Given the description of an element on the screen output the (x, y) to click on. 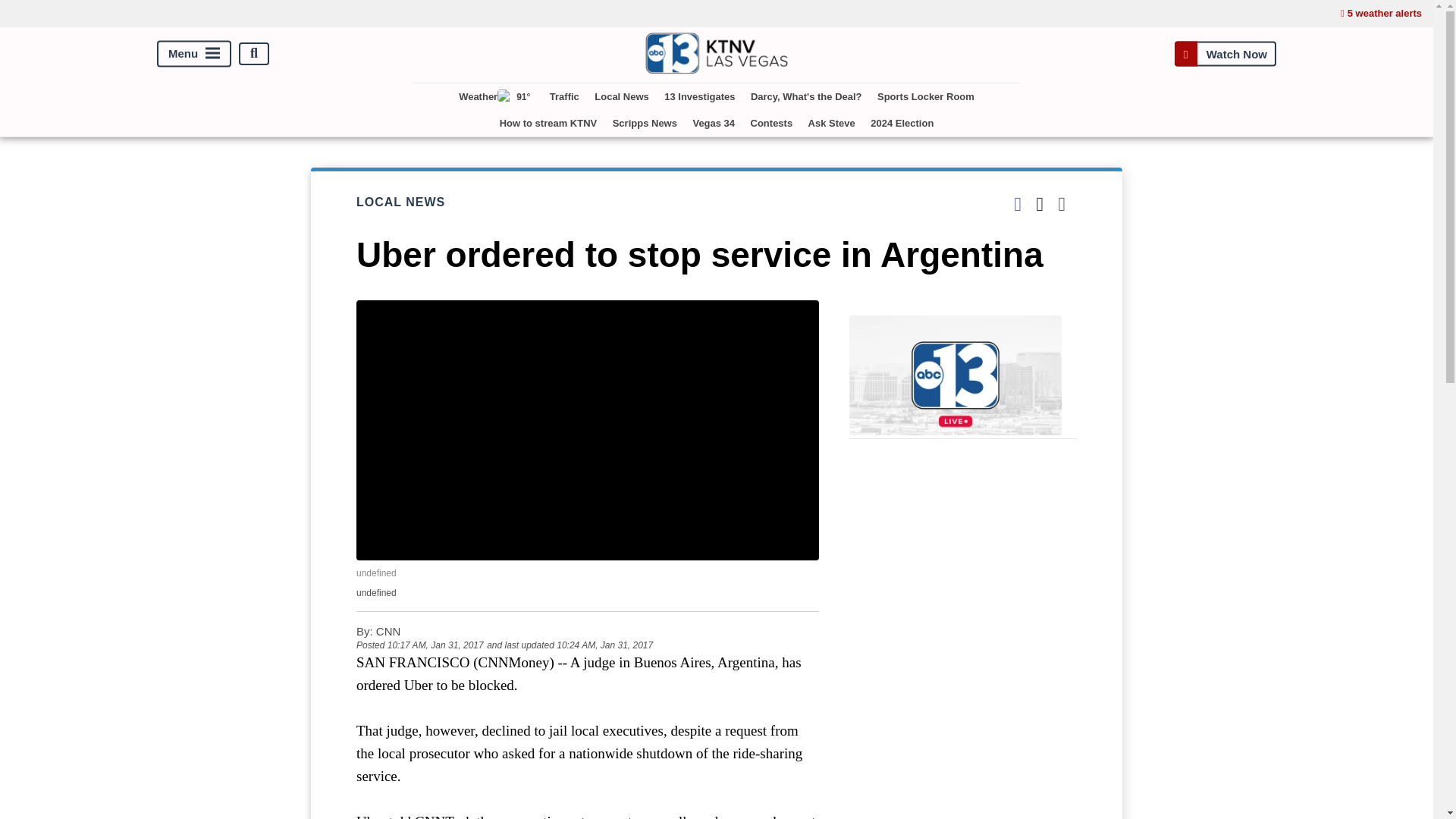
Watch Now (1224, 52)
Menu (194, 53)
